Given the description of an element on the screen output the (x, y) to click on. 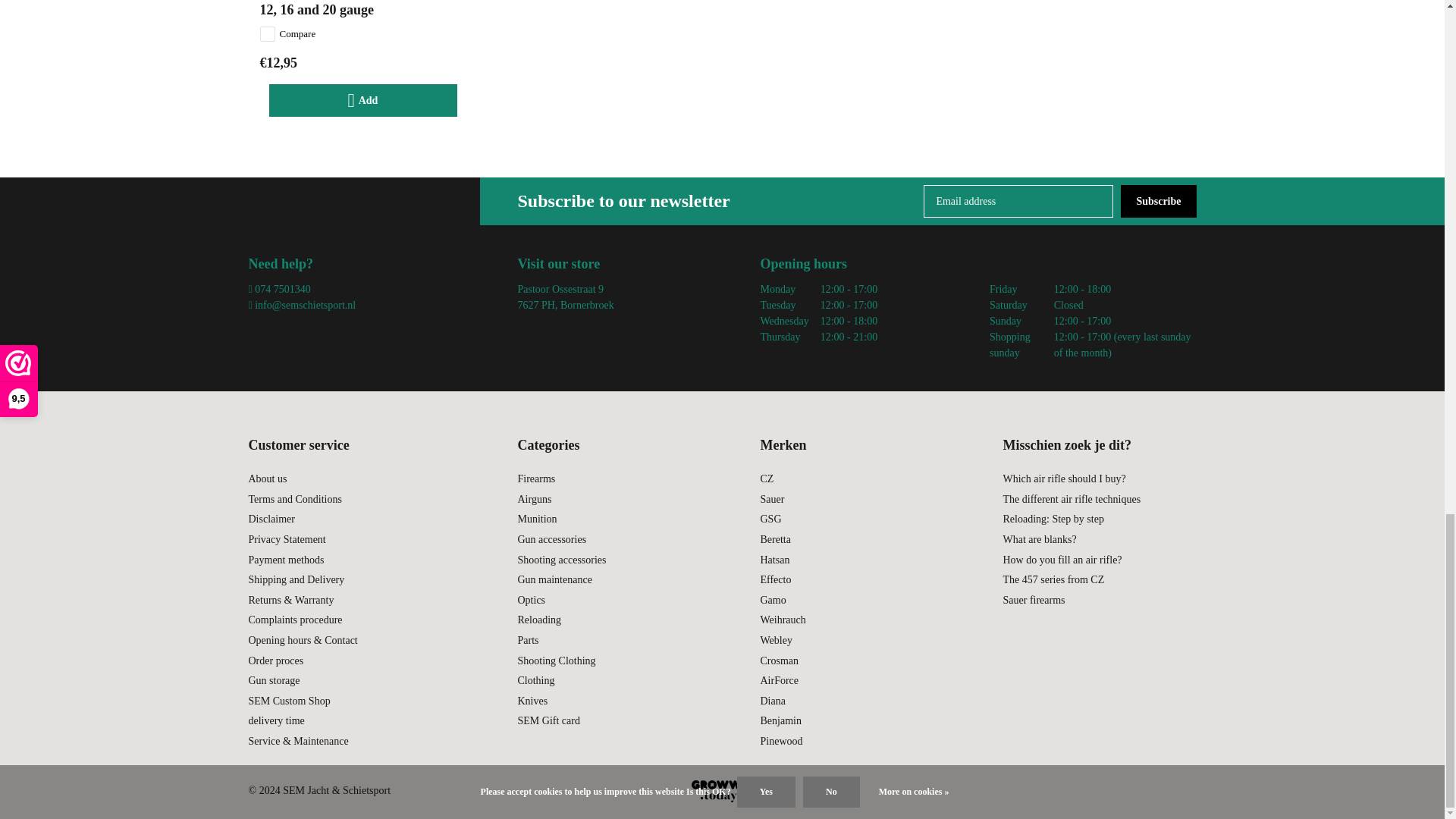
About us (267, 478)
Disclaimer (271, 518)
Terms and Conditions (295, 499)
